Given the description of an element on the screen output the (x, y) to click on. 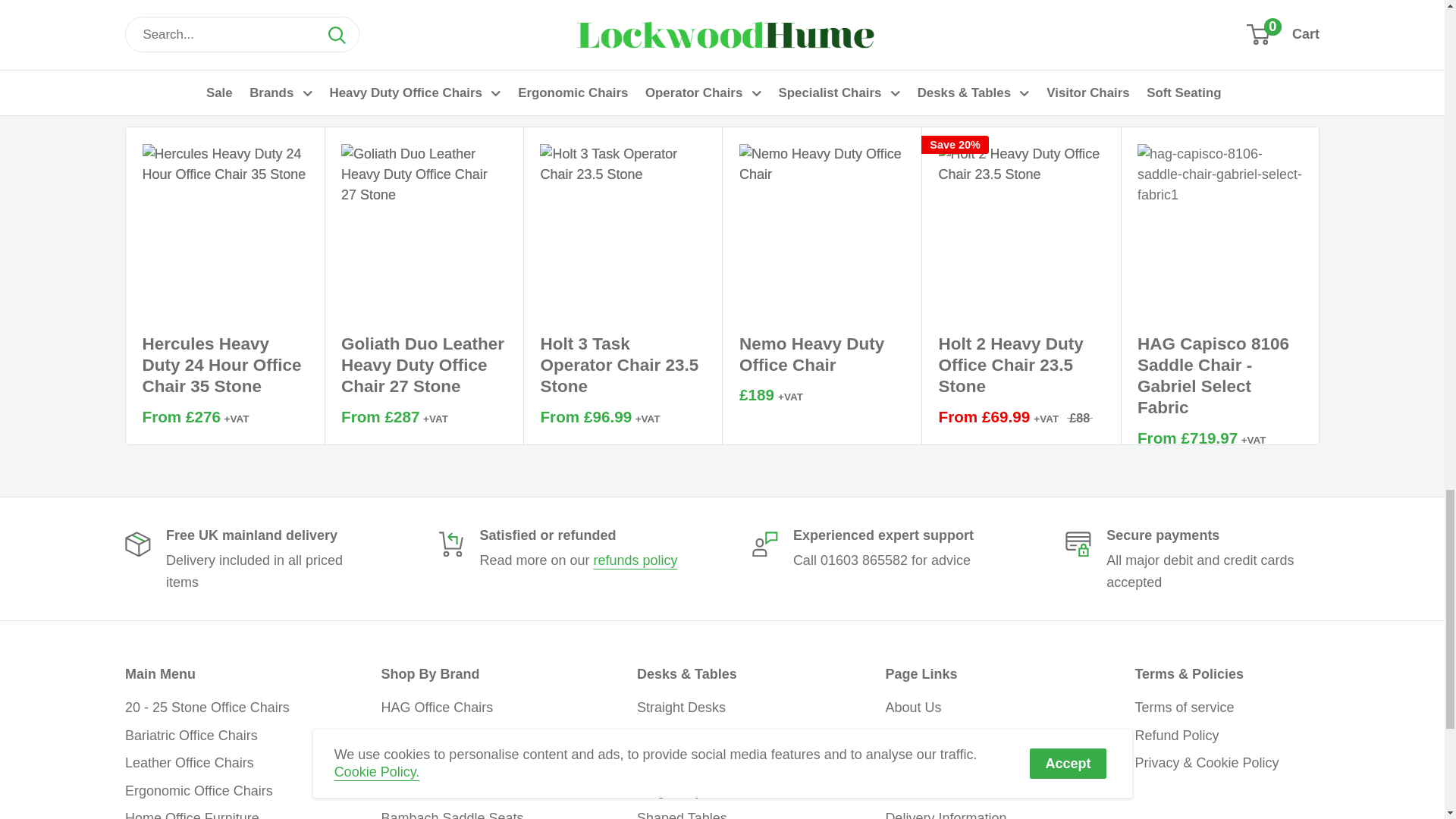
Refund Policy (636, 560)
